Given the description of an element on the screen output the (x, y) to click on. 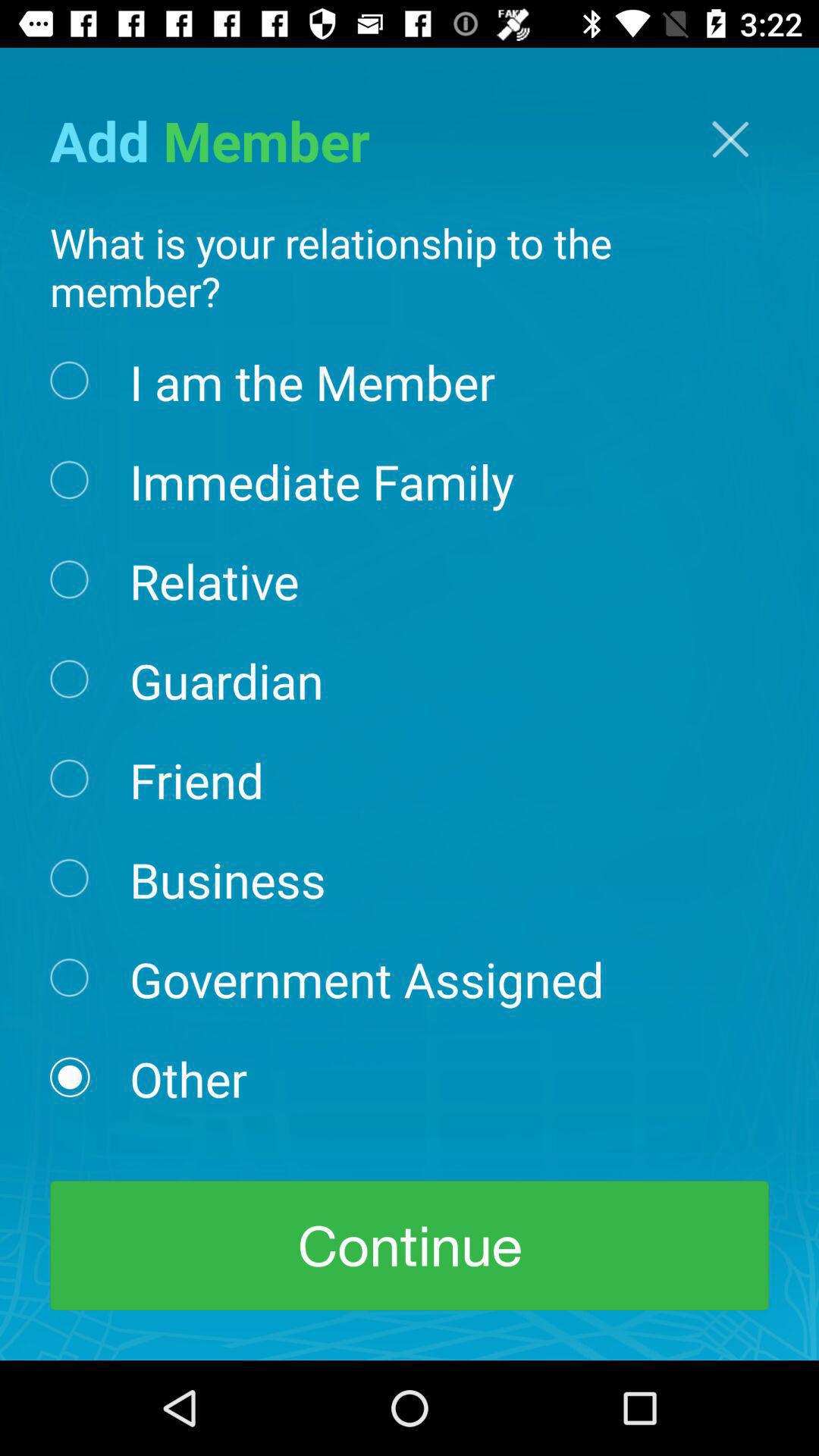
scroll to the i am the icon (312, 380)
